Given the description of an element on the screen output the (x, y) to click on. 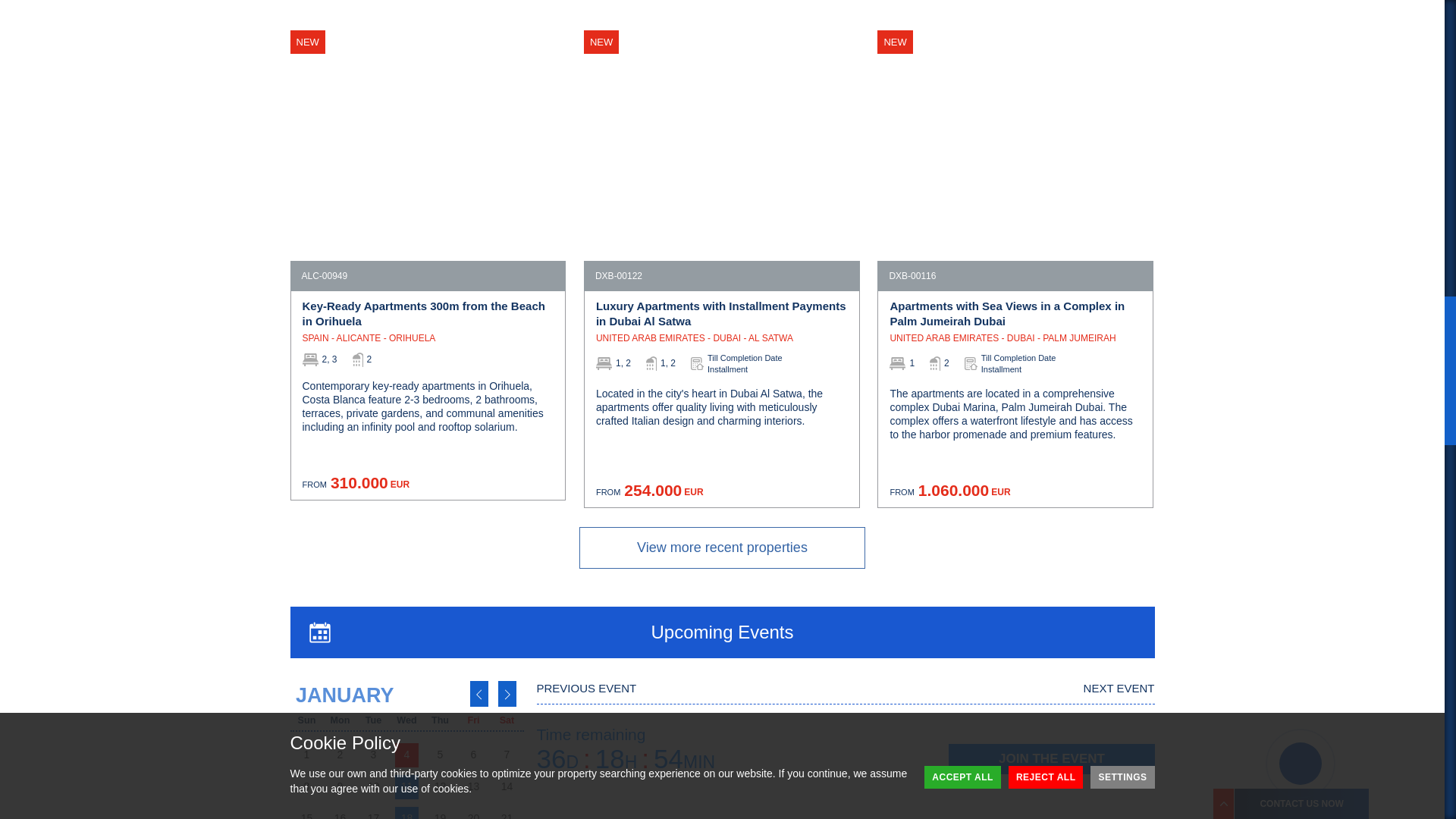
PREVIOUS EVENT (587, 687)
NEXT EVENT (1118, 687)
JOIN THE EVENT (1051, 758)
Key-Ready Apartments 300m from the Beach in Orihuela (427, 315)
